Given the description of an element on the screen output the (x, y) to click on. 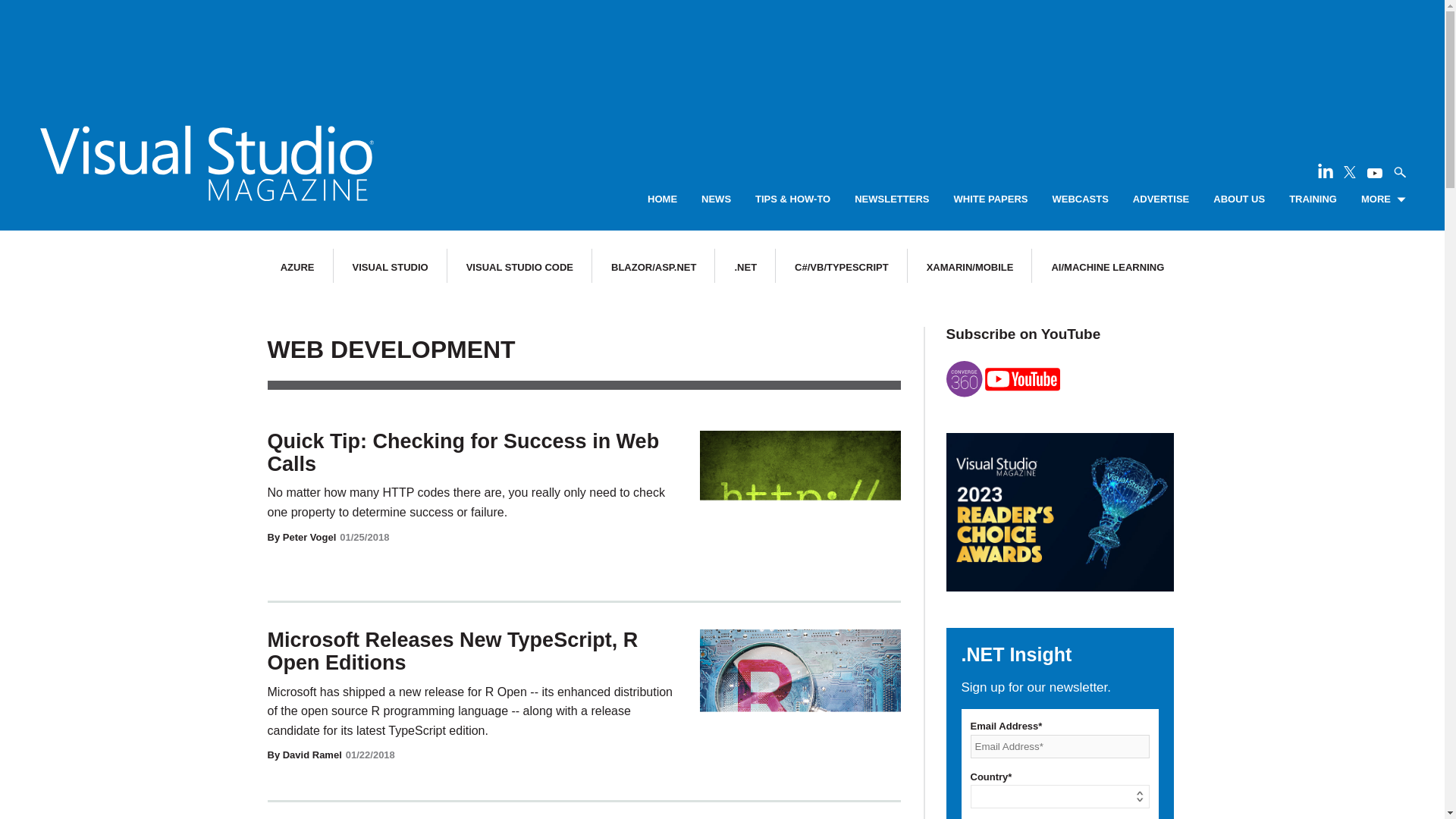
VISUAL STUDIO (390, 266)
VISUAL STUDIO CODE (519, 266)
NEWS (715, 199)
TRAINING (1312, 199)
HOME (662, 199)
3rd party ad content (721, 45)
.NET (745, 266)
ABOUT US (1238, 199)
ADVERTISE (1160, 199)
WHITE PAPERS (990, 199)
